Given the description of an element on the screen output the (x, y) to click on. 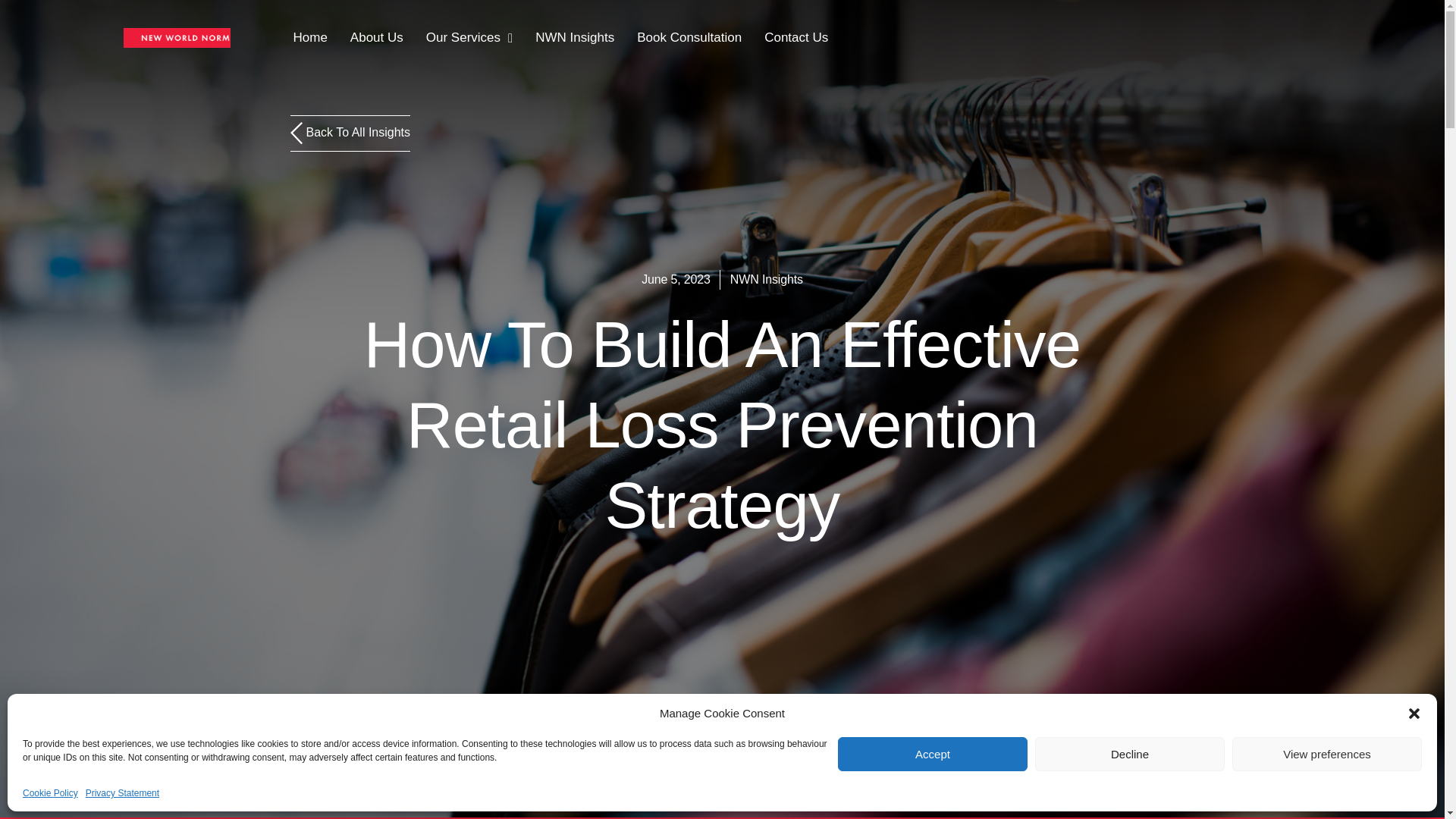
Accept (932, 754)
About Us (376, 37)
NWN Insights (574, 37)
Contact Us (796, 37)
View preferences (1326, 754)
Our Services (469, 37)
Decline (1129, 754)
Home (309, 37)
Book Consultation (689, 37)
Cookie Policy (50, 793)
